Given the description of an element on the screen output the (x, y) to click on. 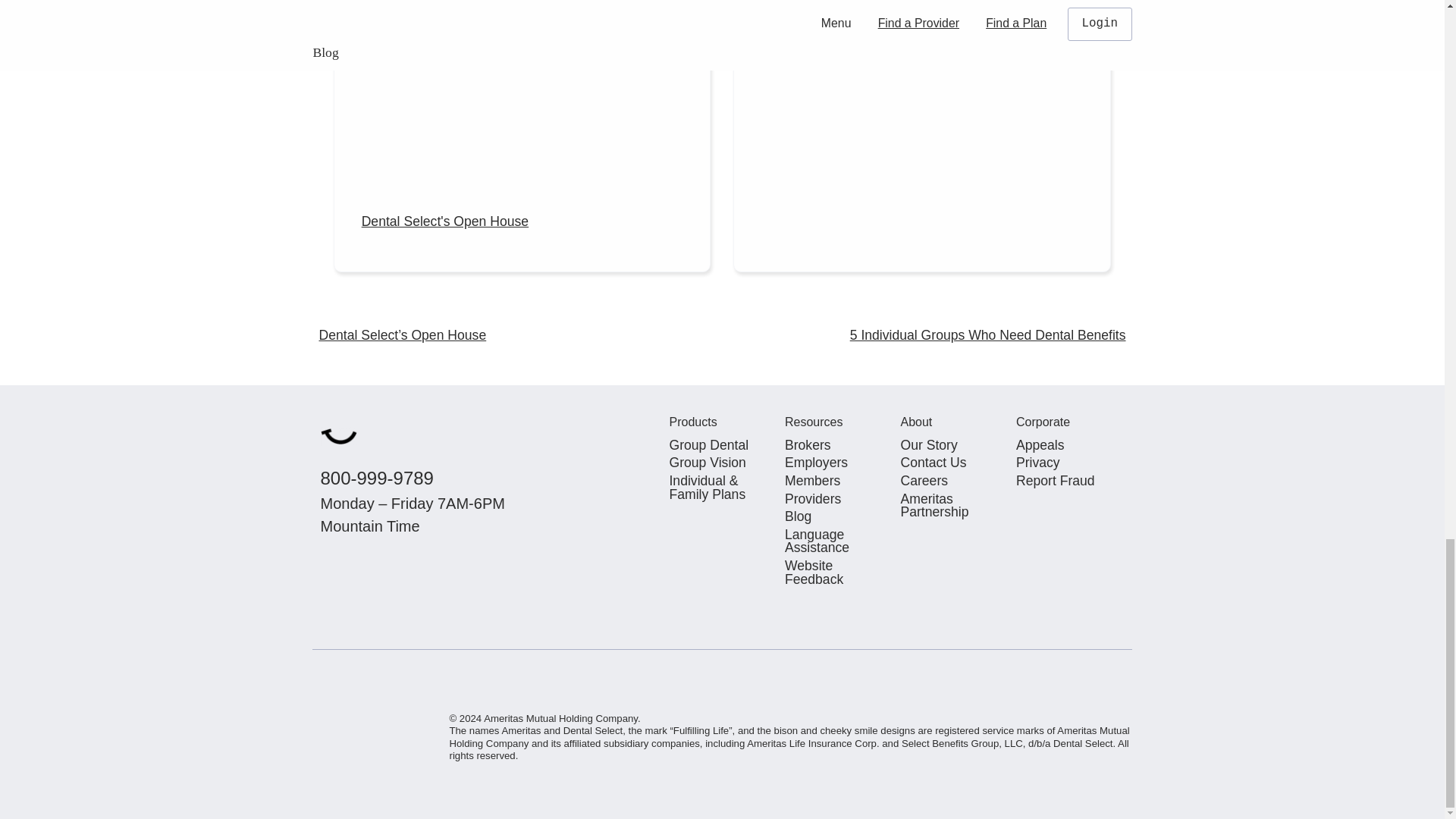
800-999-9789 (376, 477)
	Dental Select's Open House (522, 135)
Blog (834, 516)
Brokers (834, 445)
Providers (834, 499)
Group Vision (719, 463)
5 Individual Groups Who Need Dental Benefits (921, 47)
5 Individual Groups Who Need Dental Benefits (987, 335)
Employers (834, 463)
5 Individual Groups Who Need Dental Benefits (921, 47)
Group Dental (719, 445)
Members (834, 481)
Dental Select (339, 435)
Dental Select's Open House (522, 135)
